Given the description of an element on the screen output the (x, y) to click on. 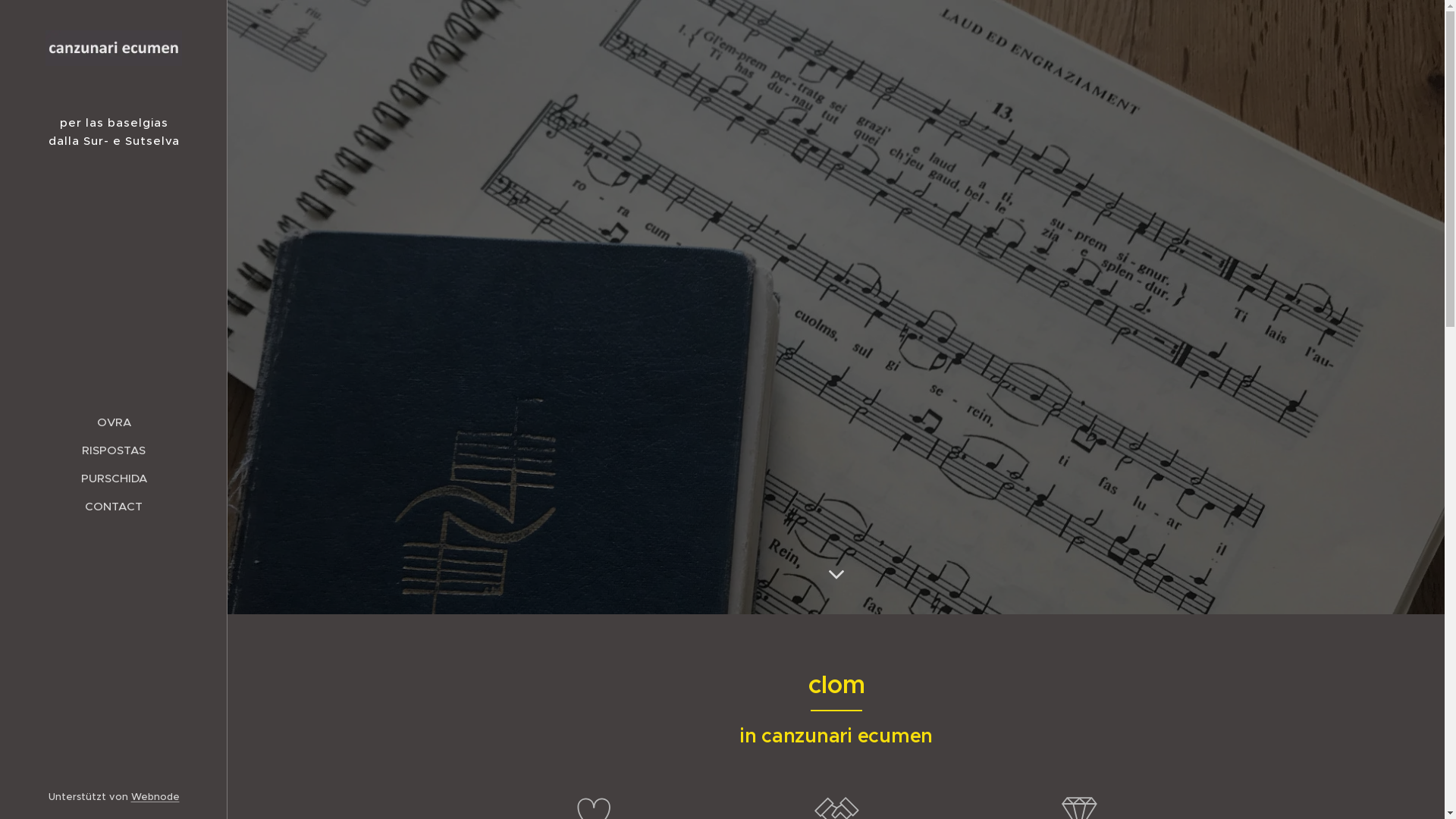
RISPOSTAS Element type: text (113, 449)
OVRA Element type: text (113, 421)
Webnode Element type: text (154, 796)
CONTACT Element type: text (113, 505)
PURSCHIDA Element type: text (113, 477)
